Given the description of an element on the screen output the (x, y) to click on. 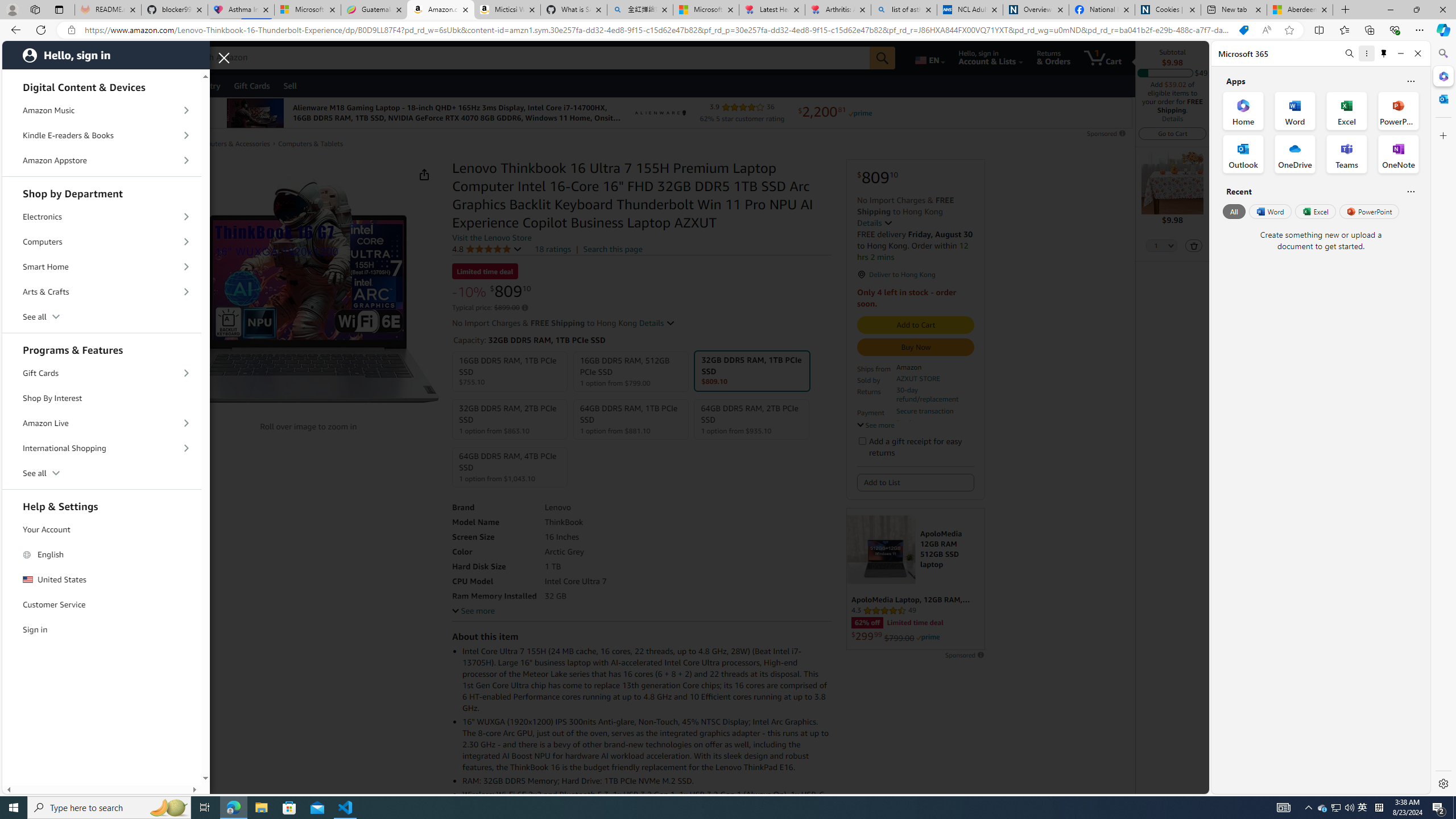
Search Amazon (526, 57)
Your Account (101, 529)
30-day refund/replacement (934, 394)
Go to Cart (1171, 133)
Amazon (43, 57)
Share (423, 174)
64GB DDR5 RAM, 2TB PCIe SSD 1 option from $935.10 (751, 418)
Delete (1193, 245)
Sign in (101, 629)
Unpin side pane (1383, 53)
Hello, sign in (105, 54)
16GB DDR5 RAM, 1TB PCIe SSD $755.10 (509, 371)
